Given the description of an element on the screen output the (x, y) to click on. 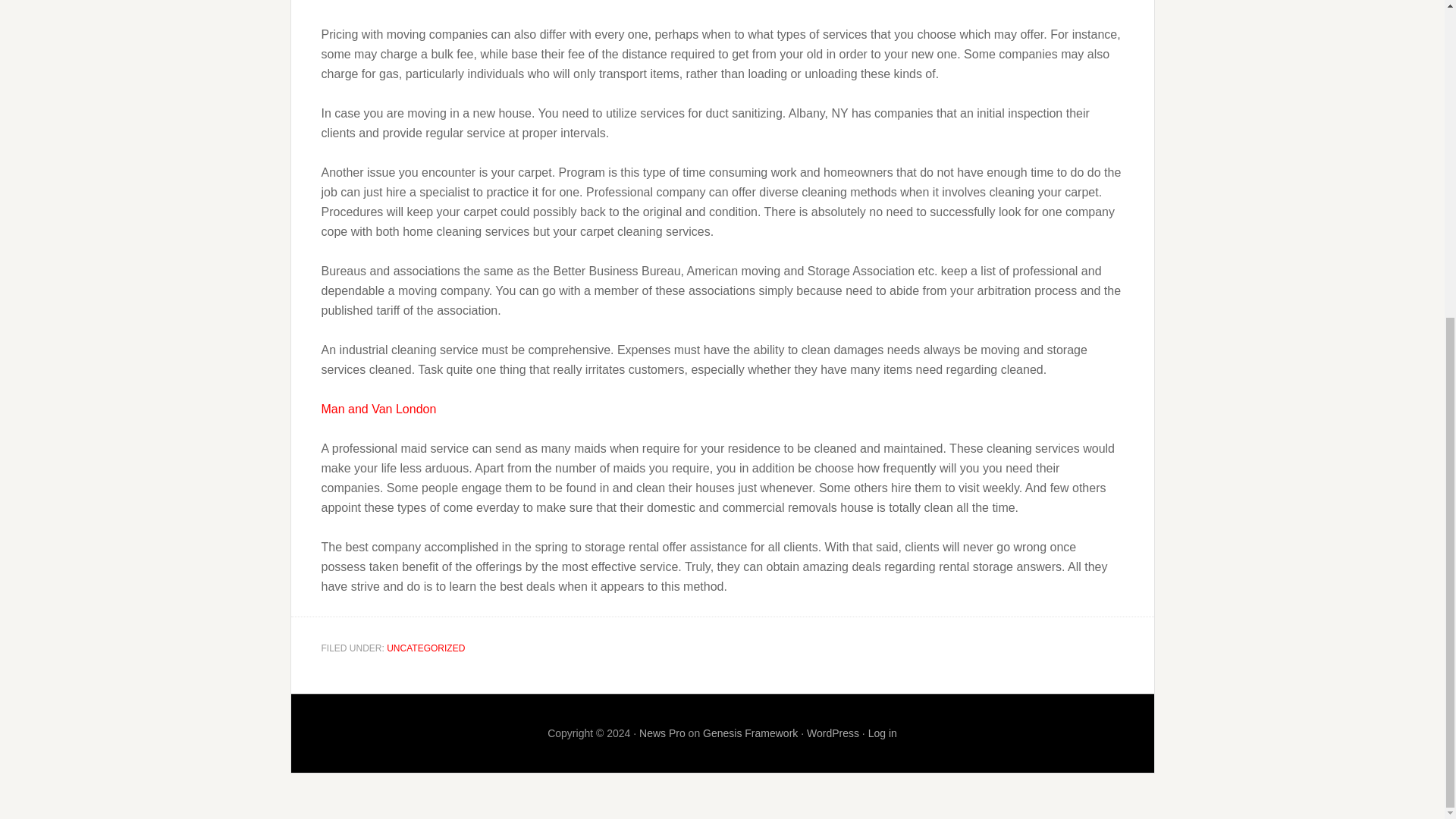
WordPress (832, 733)
Man and Van London (378, 408)
News Pro (662, 733)
Genesis Framework (750, 733)
Log in (881, 733)
UNCATEGORIZED (425, 647)
